Given the description of an element on the screen output the (x, y) to click on. 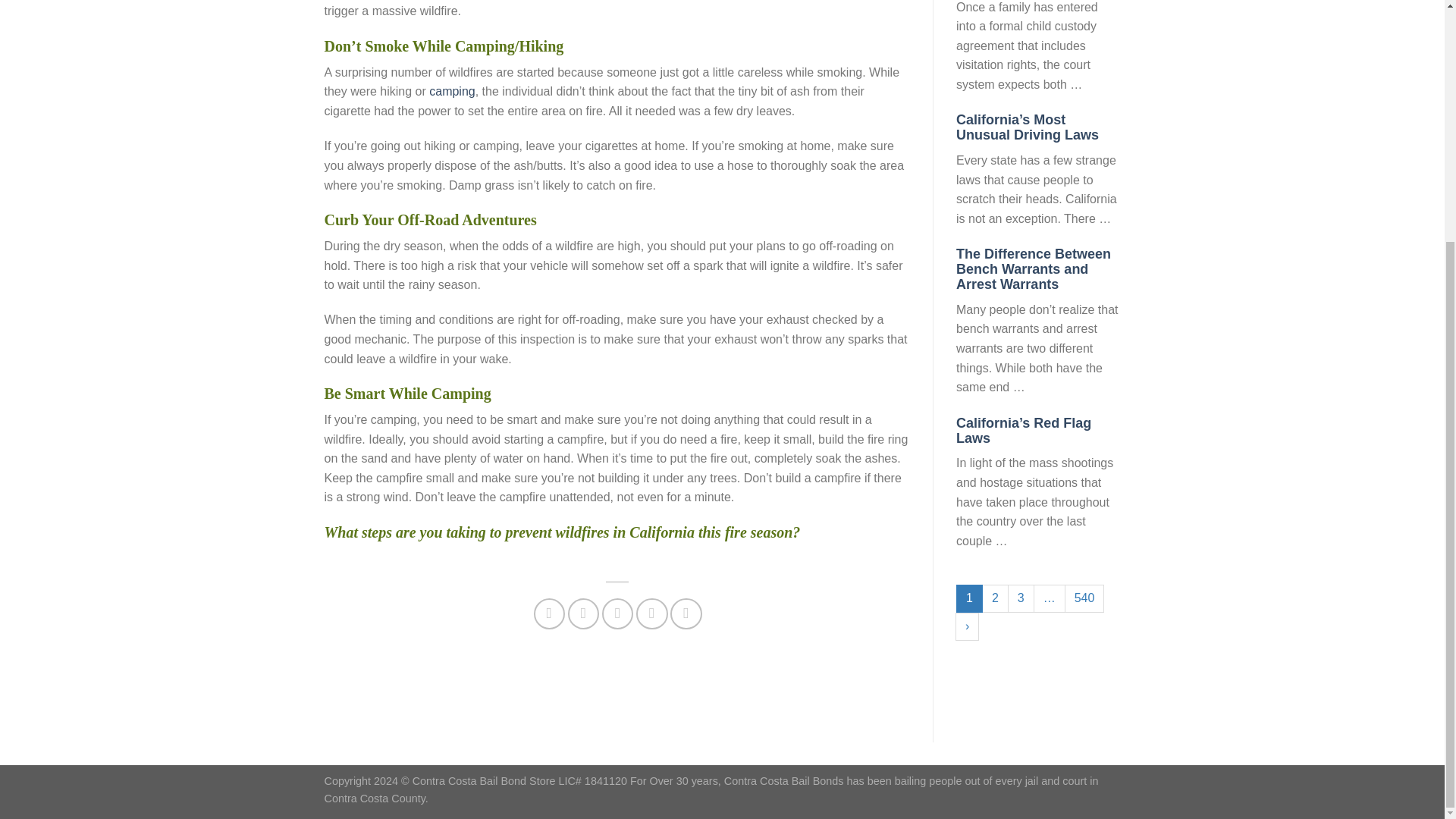
2 (995, 598)
Pin on Pinterest (651, 613)
Tips For Staying Safe While Camping (451, 91)
540 (1084, 598)
Share on Twitter (582, 613)
3 (1020, 598)
camping (451, 91)
Share on LinkedIn (685, 613)
Share on Facebook (549, 613)
1 (969, 598)
